Given the description of an element on the screen output the (x, y) to click on. 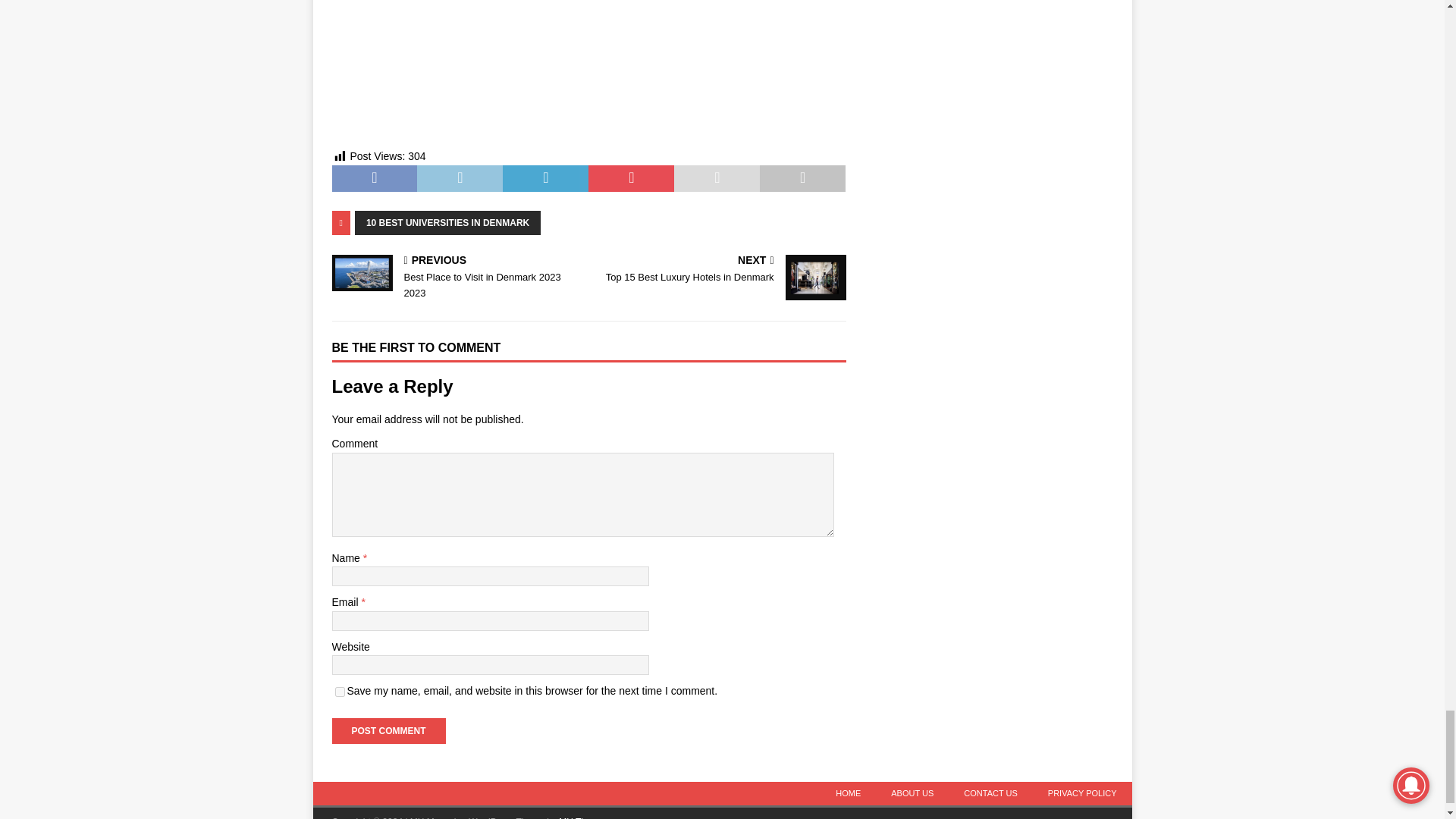
Post Comment (388, 730)
yes (339, 691)
